Given the description of an element on the screen output the (x, y) to click on. 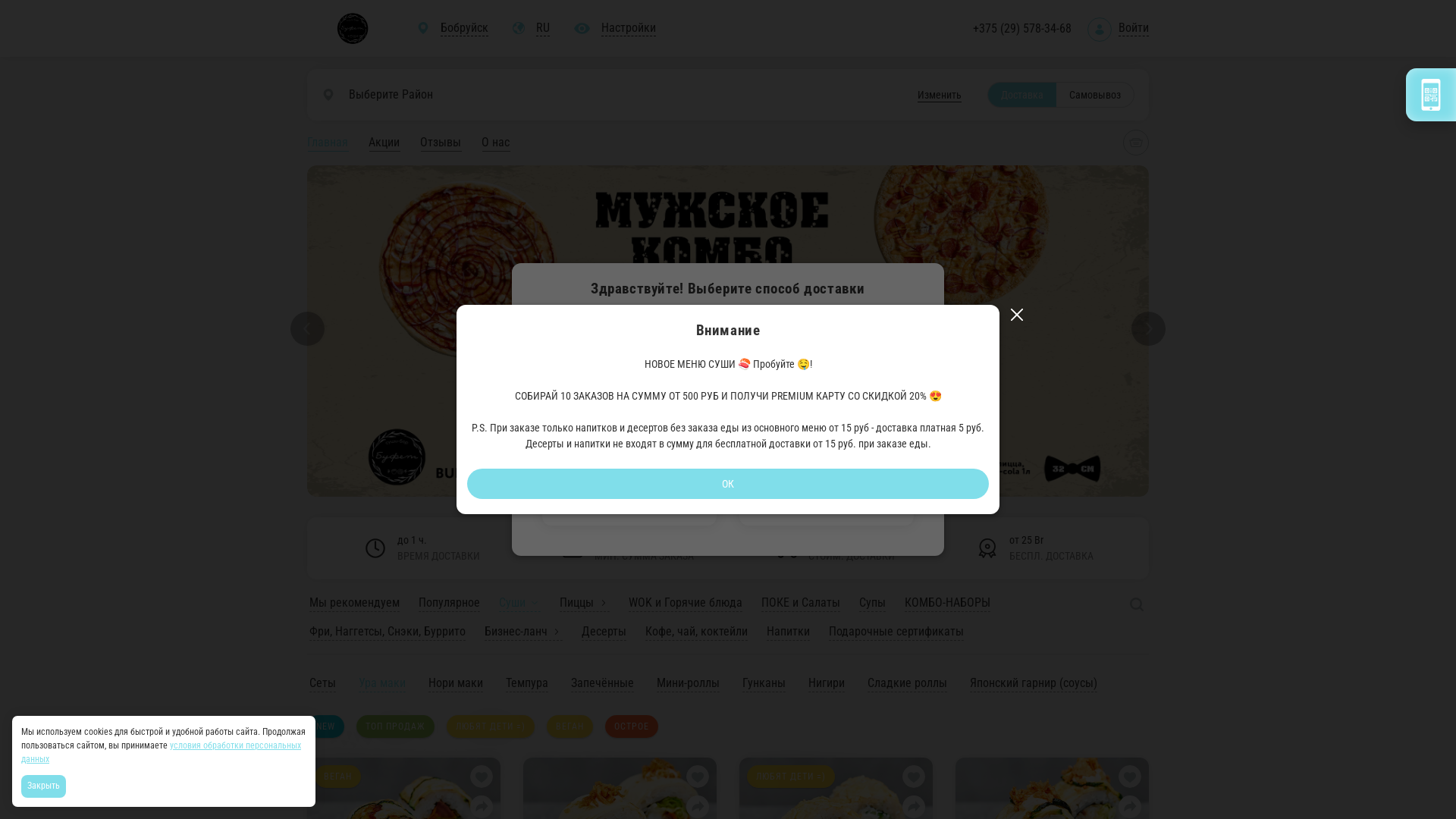
+375 (29) 578-34-68 Element type: text (1021, 28)
